Given the description of an element on the screen output the (x, y) to click on. 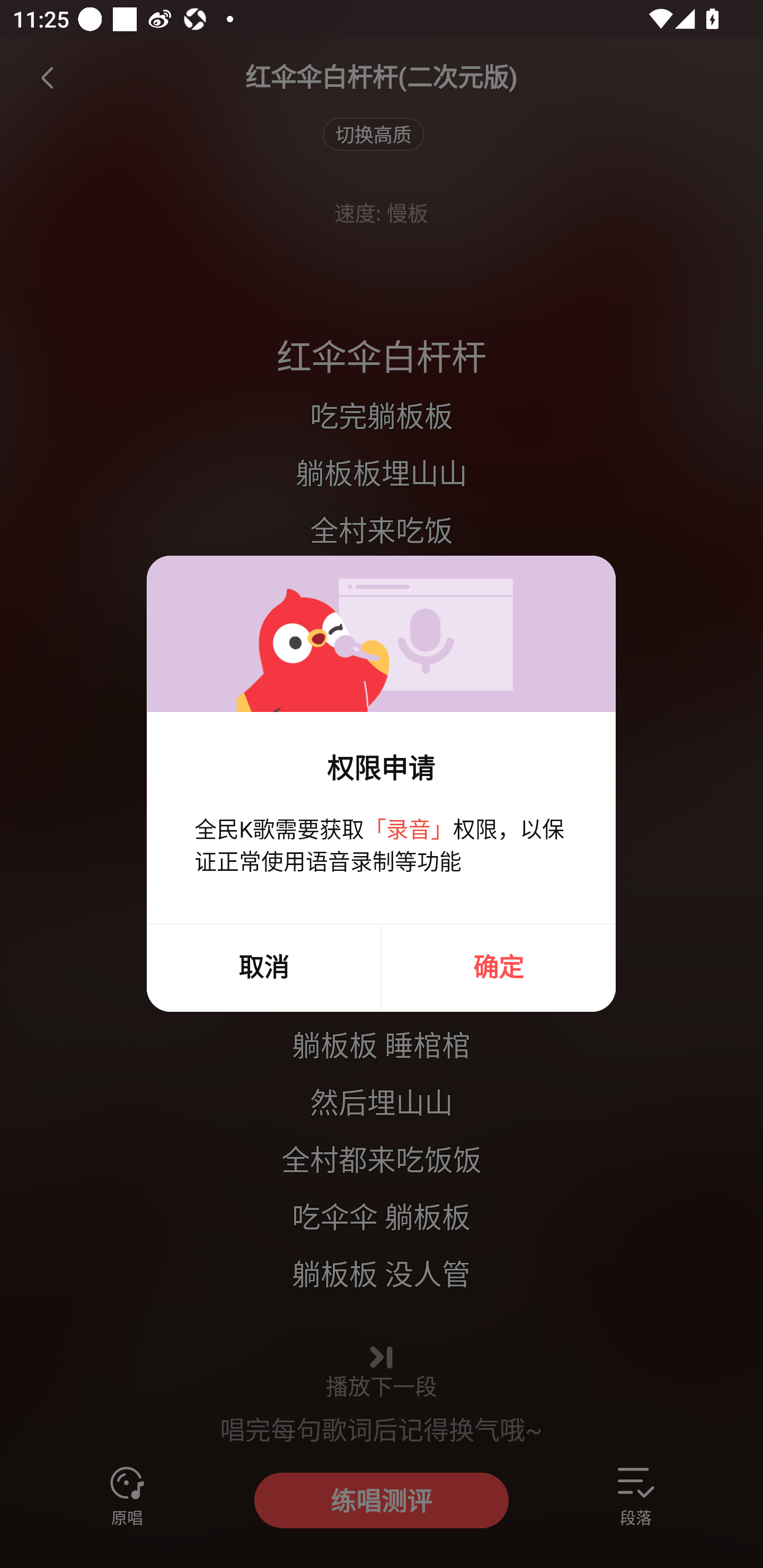
取消 (263, 968)
确定 (498, 968)
